Given the description of an element on the screen output the (x, y) to click on. 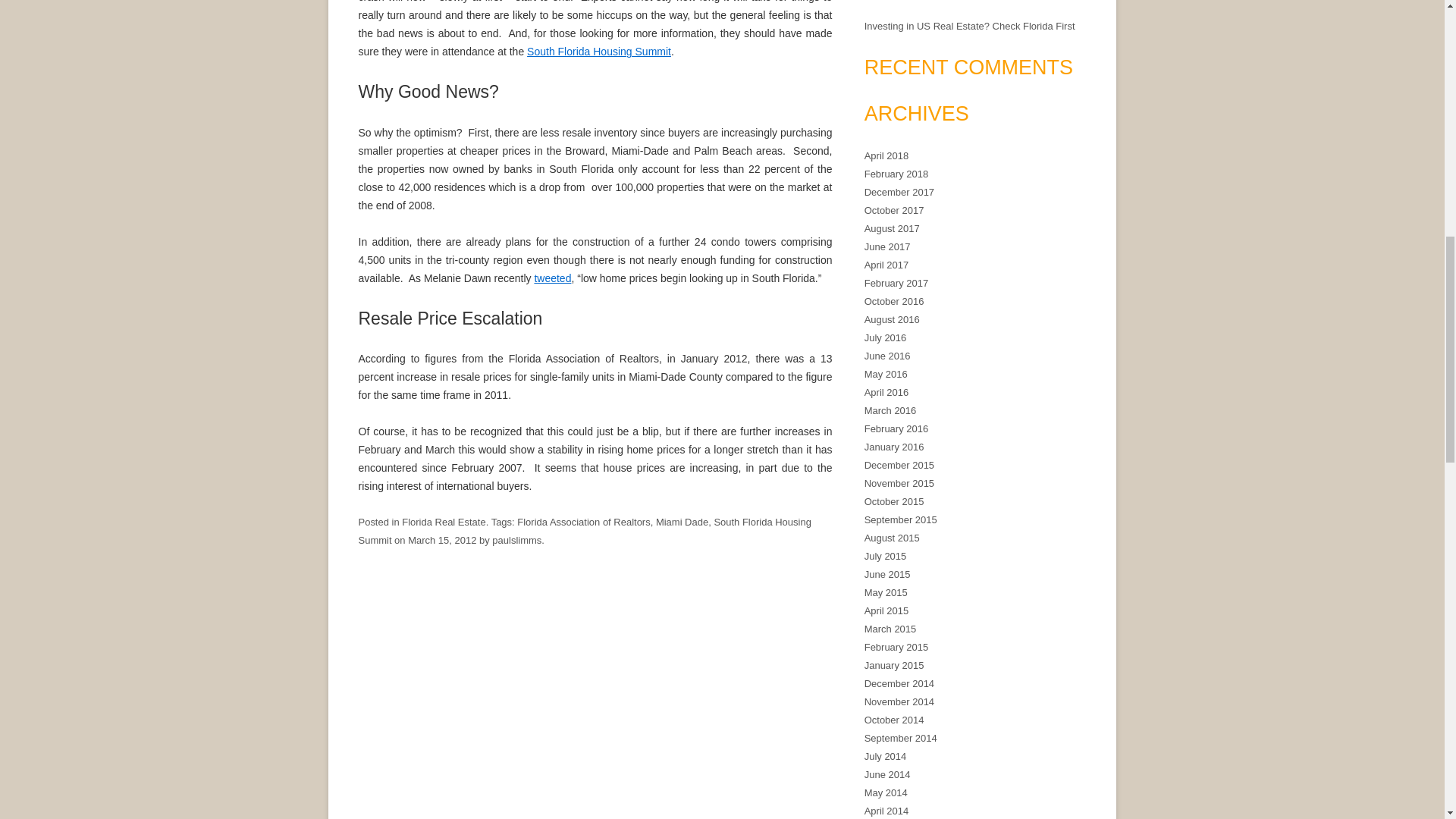
View all posts by paulslimms (516, 540)
March 15, 2012 (441, 540)
December 2015 (899, 464)
paulslimms (516, 540)
October 2016 (894, 301)
February 2017 (896, 283)
June 2017 (887, 246)
July 2016 (885, 337)
Florida Real Estate (442, 521)
April 2017 (886, 265)
South Florida Housing Summit (584, 531)
August 2016 (892, 319)
Investing in US Real Estate? Check Florida First (969, 25)
August 2017 (892, 228)
June 2016 (887, 355)
